Given the description of an element on the screen output the (x, y) to click on. 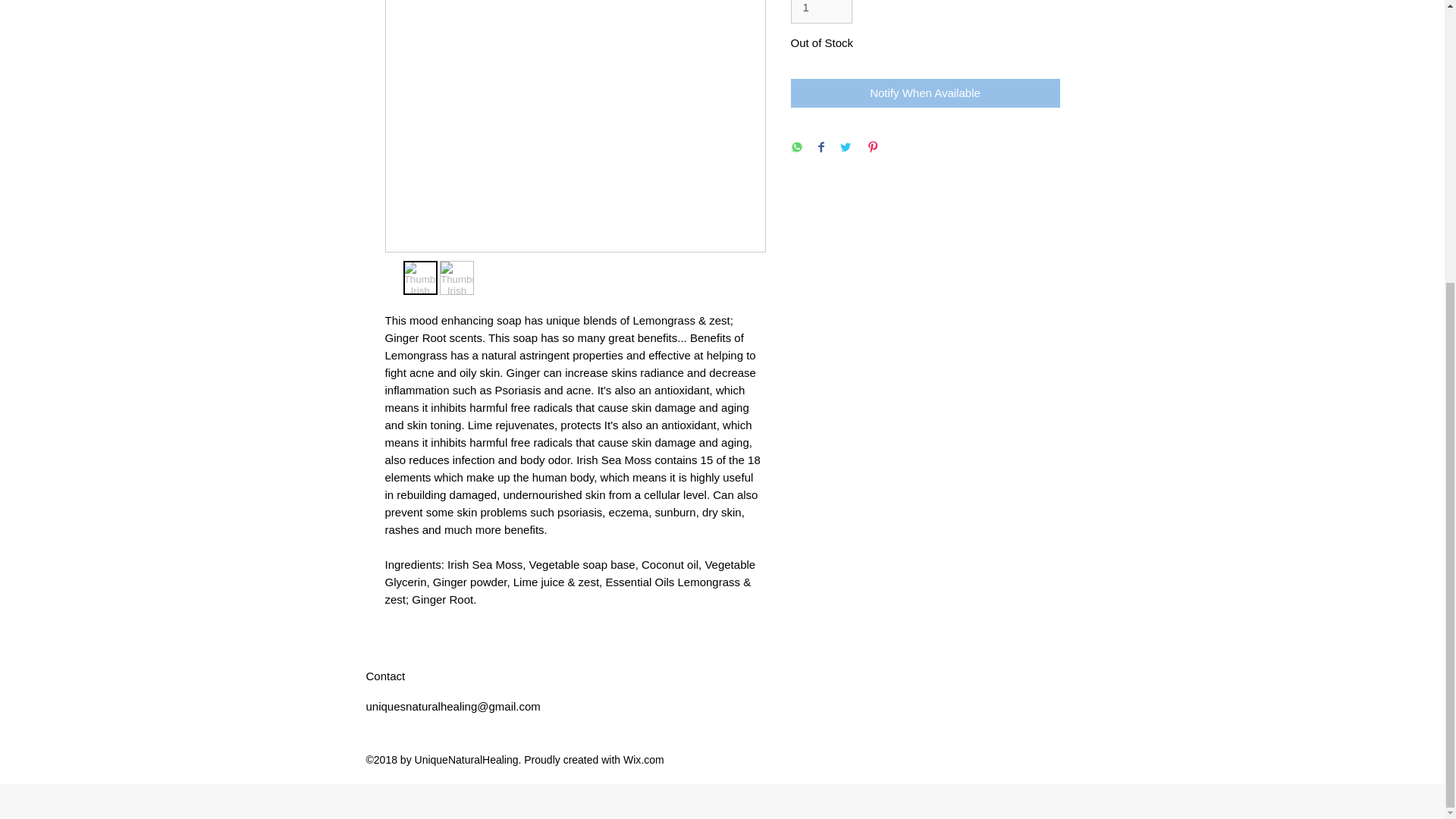
1 (820, 12)
Notify When Available (924, 93)
